Given the description of an element on the screen output the (x, y) to click on. 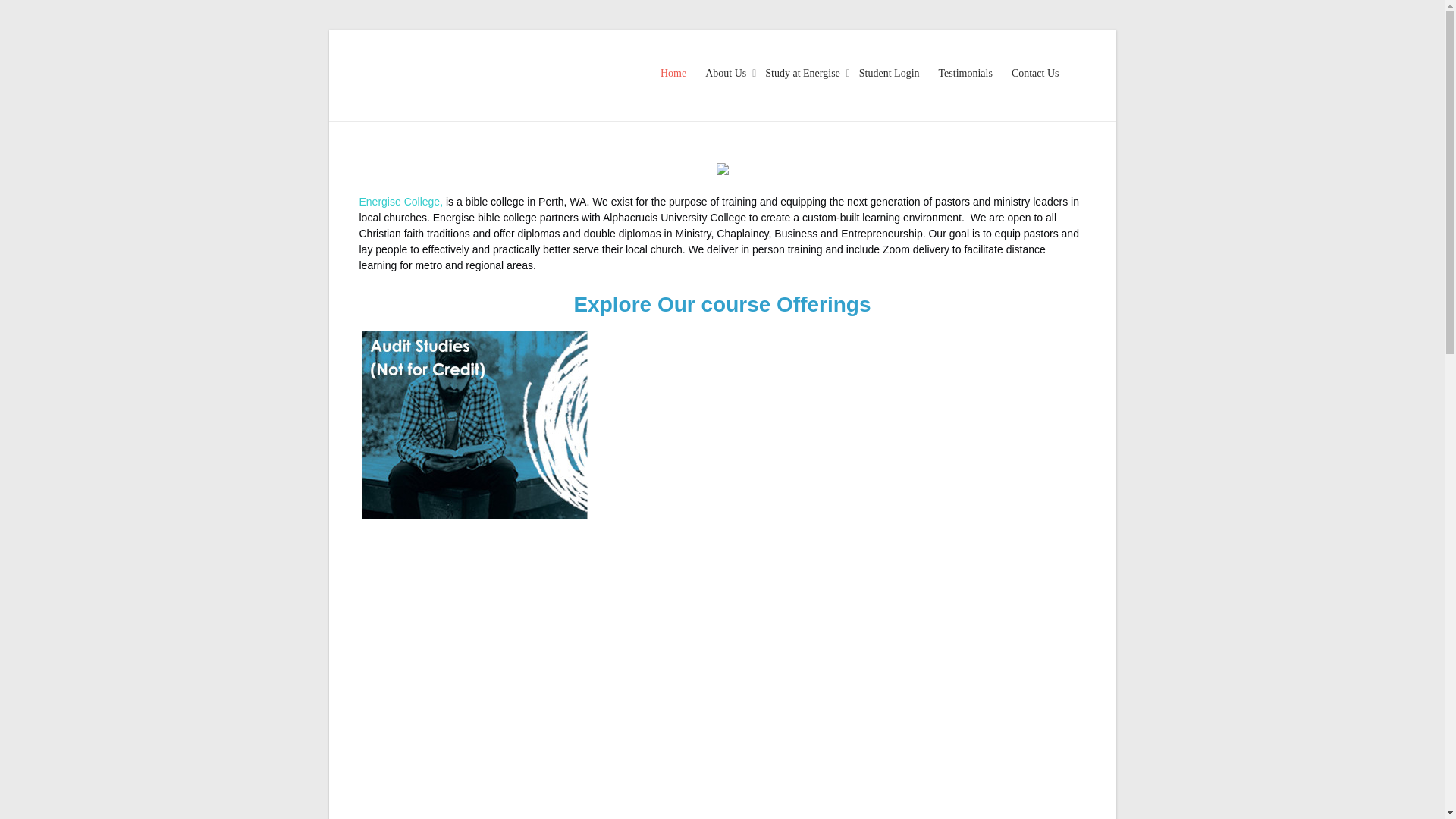
Student Login (889, 87)
About Us (724, 87)
Home (673, 87)
Contact Us (1035, 87)
Testimonials (965, 87)
Study at Energise (802, 87)
